Given the description of an element on the screen output the (x, y) to click on. 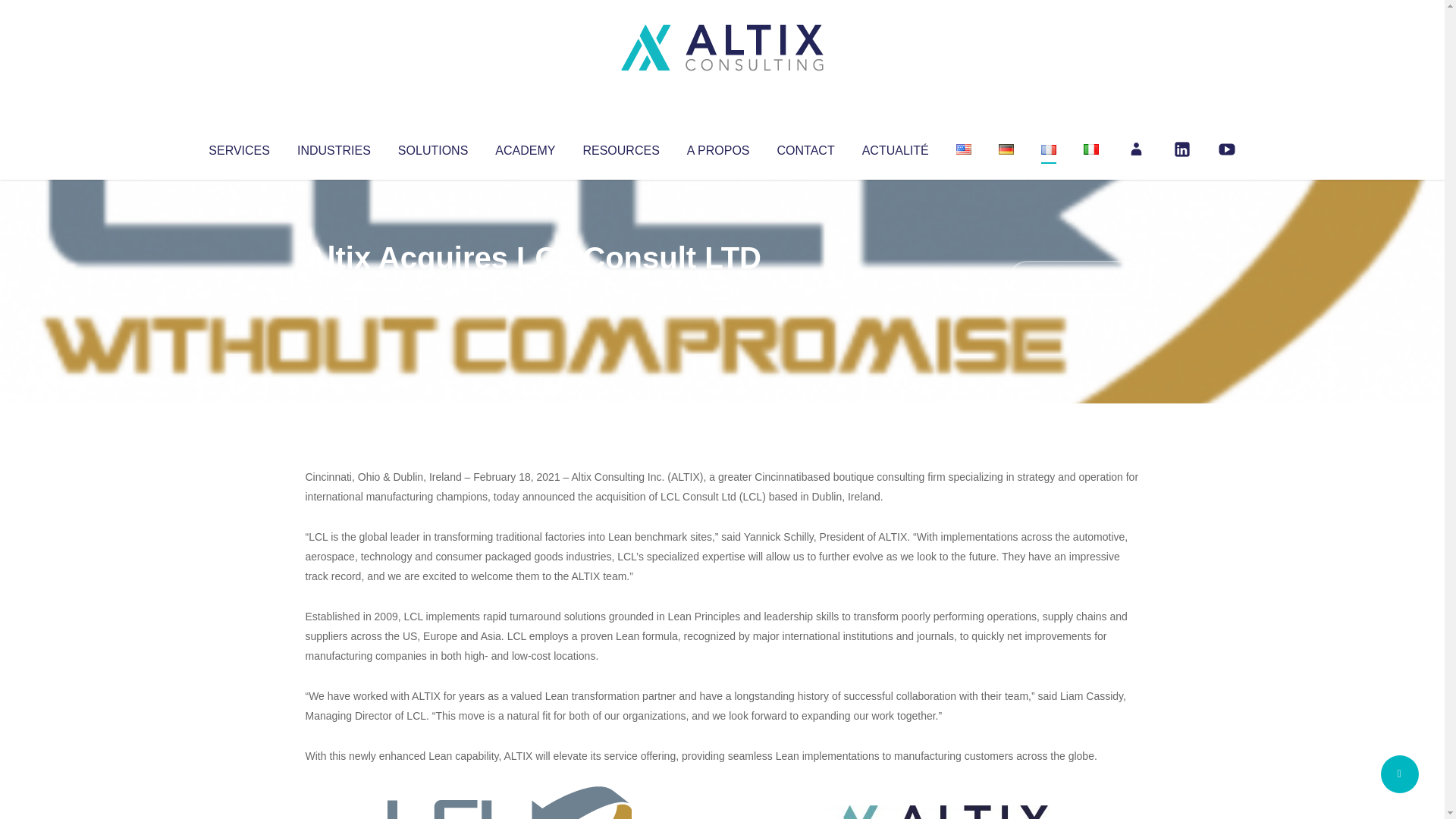
ACADEMY (524, 146)
No Comments (1073, 278)
Uncategorized (530, 287)
SOLUTIONS (432, 146)
A PROPOS (718, 146)
SERVICES (238, 146)
Altix (333, 287)
INDUSTRIES (334, 146)
Articles par Altix (333, 287)
RESOURCES (620, 146)
